Given the description of an element on the screen output the (x, y) to click on. 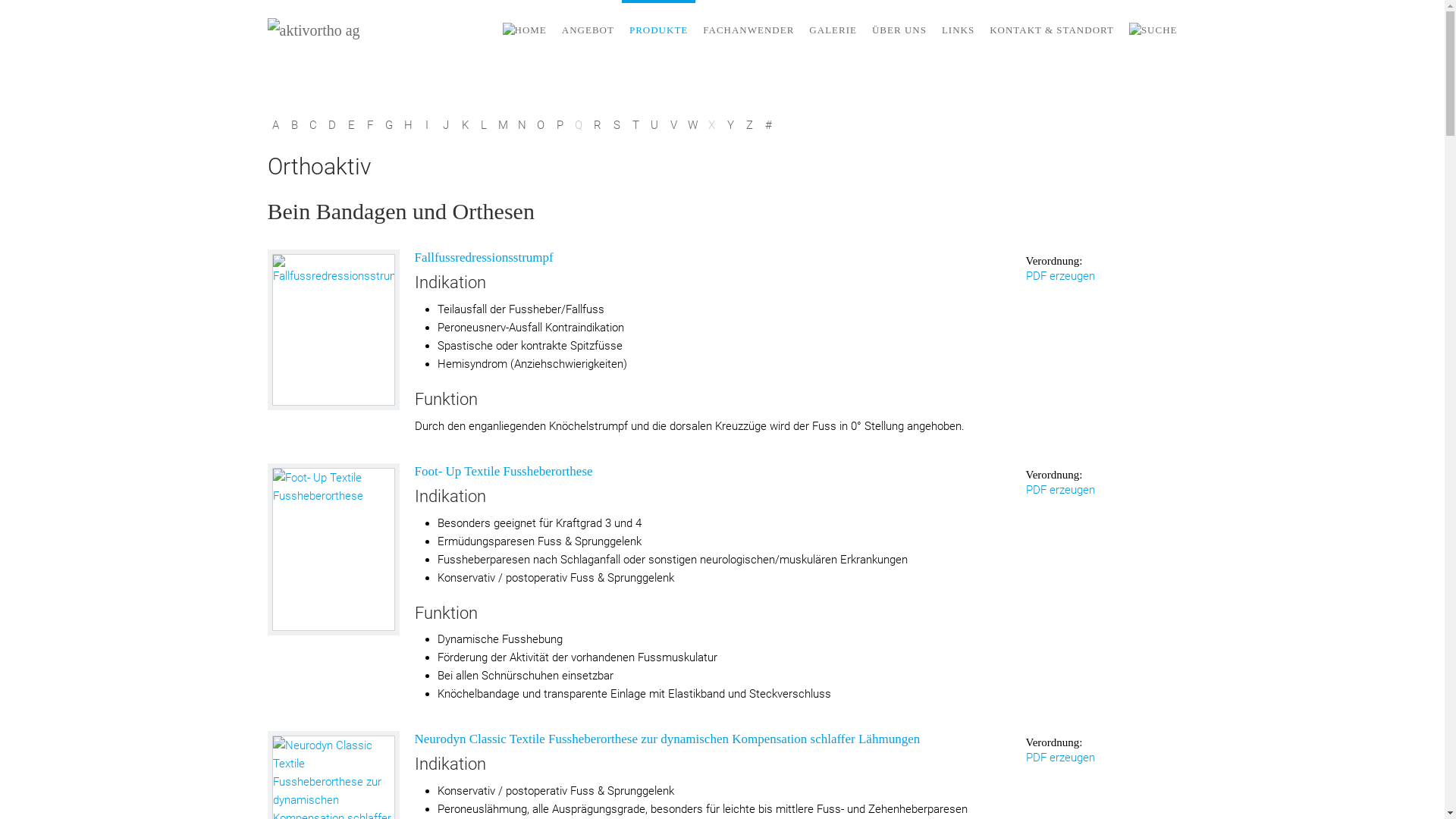
Z Element type: text (749, 124)
Fallfussredressionsstrumpf Element type: text (483, 257)
Fallfussredressionsstrumpf Element type: hover (332, 329)
W Element type: text (691, 124)
PDF erzeugen Element type: text (1059, 275)
J Element type: text (446, 124)
V Element type: text (673, 124)
PRODUKTE Element type: text (658, 30)
S Element type: text (616, 124)
FACHANWENDER Element type: text (748, 30)
KONTAKT & STANDORT Element type: text (1051, 30)
E Element type: text (350, 124)
N Element type: text (522, 124)
ANGEBOT Element type: text (587, 30)
M Element type: text (502, 124)
# Element type: text (767, 124)
PDF erzeugen Element type: text (1059, 757)
Y Element type: text (729, 124)
T Element type: text (635, 124)
PDF erzeugen Element type: text (1059, 489)
R Element type: text (597, 124)
F Element type: text (370, 124)
Fallfussredressionsstrumpf Element type: hover (333, 329)
GALERIE Element type: text (832, 30)
D Element type: text (332, 124)
Foot- Up Textile Fussheberorthese Element type: hover (333, 549)
Foot- Up Textile Fussheberorthese Element type: hover (332, 548)
I Element type: text (426, 124)
C Element type: text (312, 124)
U Element type: text (654, 124)
O Element type: text (540, 124)
P Element type: text (559, 124)
B Element type: text (294, 124)
Foot- Up Textile Fussheberorthese Element type: text (503, 471)
G Element type: text (388, 124)
A Element type: text (274, 124)
Orthoaktiv Element type: text (721, 166)
L Element type: text (484, 124)
K Element type: text (464, 124)
LINKS Element type: text (958, 30)
H Element type: text (408, 124)
